Given the description of an element on the screen output the (x, y) to click on. 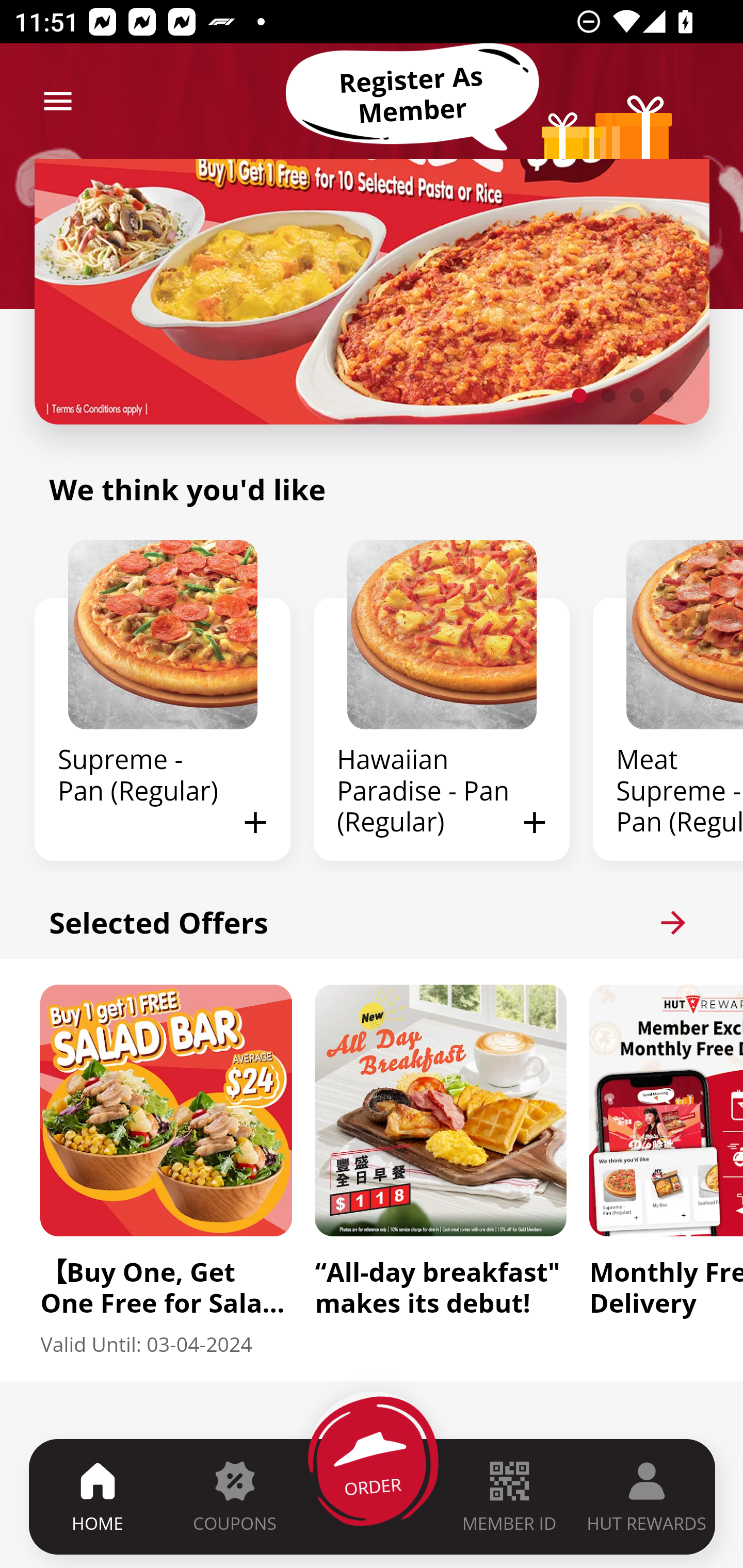
Register As Member (411, 95)
menu (58, 100)
arrow_forward (672, 922)
HOME (97, 1496)
COUPONS (234, 1496)
ORDER (372, 1496)
MEMBER ID (509, 1496)
HUT REWARDS (647, 1496)
